Given the description of an element on the screen output the (x, y) to click on. 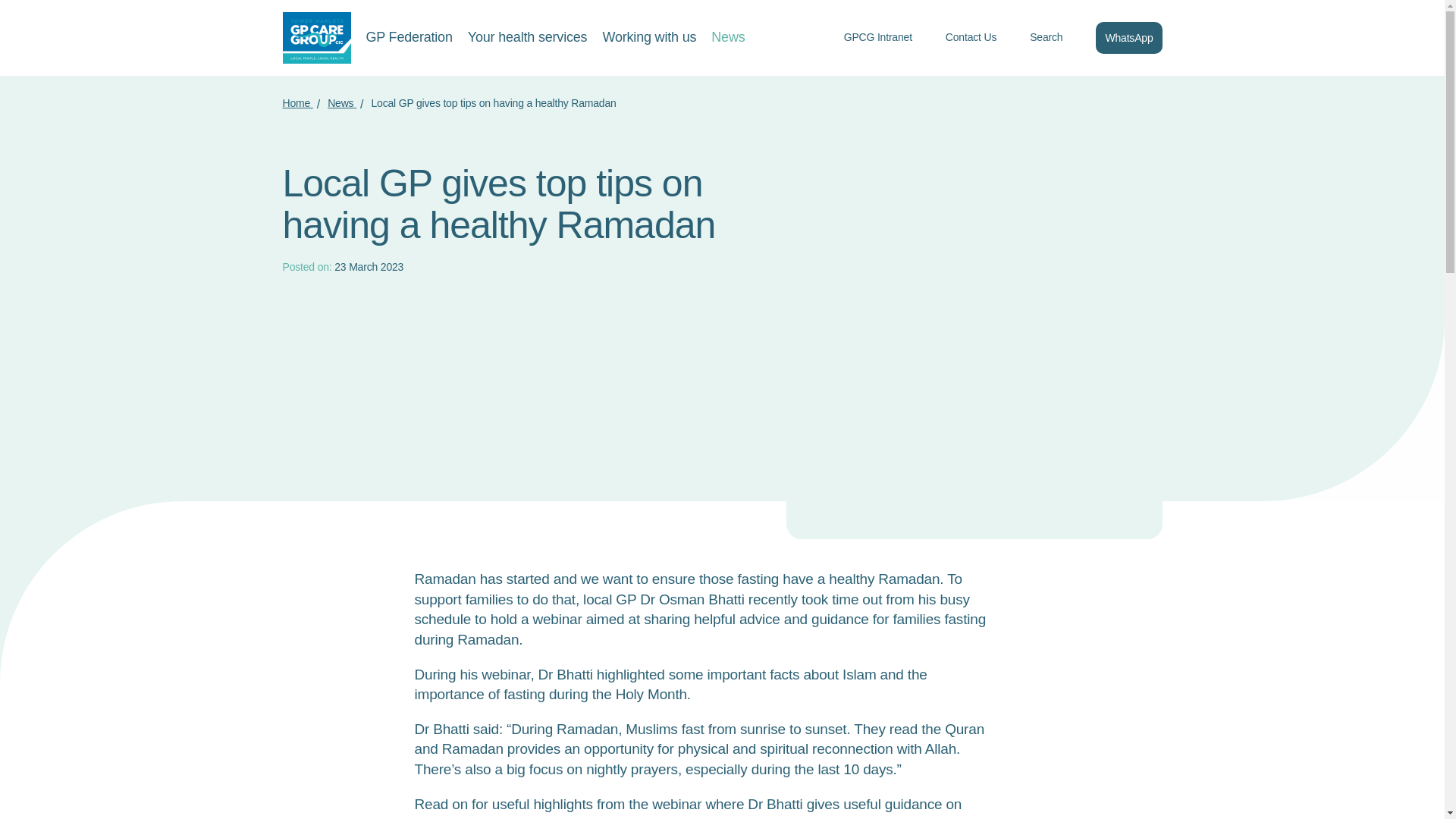
Home (297, 102)
Your health services (527, 37)
Contact Us (979, 37)
GPCG Intranet (887, 37)
Your health services (527, 37)
GP Care Group (316, 37)
News (341, 102)
Search (1054, 37)
Working with us (648, 37)
GP Federation (408, 37)
